Given the description of an element on the screen output the (x, y) to click on. 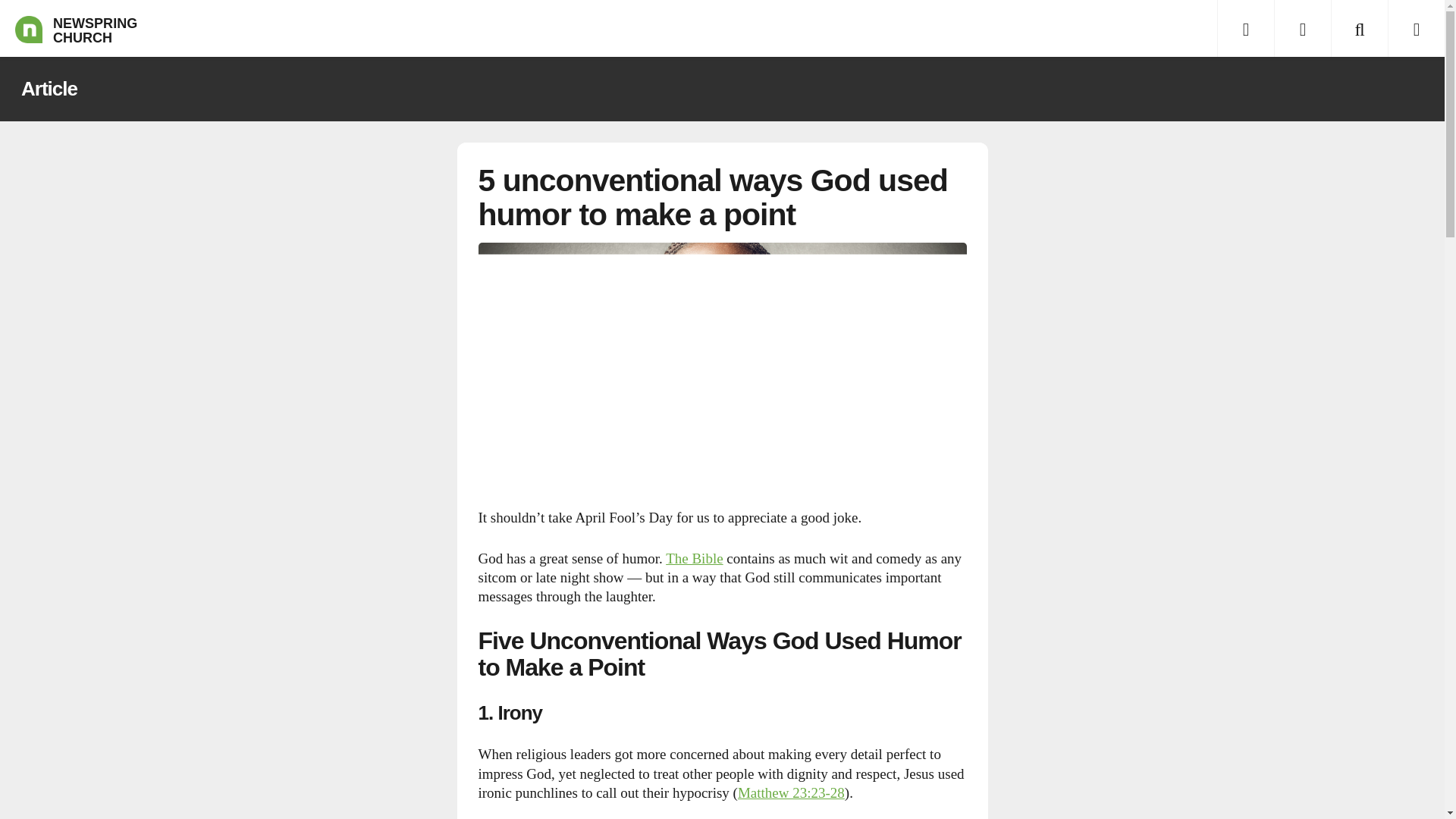
Bible Gateway (791, 792)
Matthew 23:23-28 (791, 792)
Locations (1302, 28)
NEWSPRING CHURCH (28, 28)
The Bible (693, 558)
Search (1358, 28)
Menu (1245, 28)
